Given the description of an element on the screen output the (x, y) to click on. 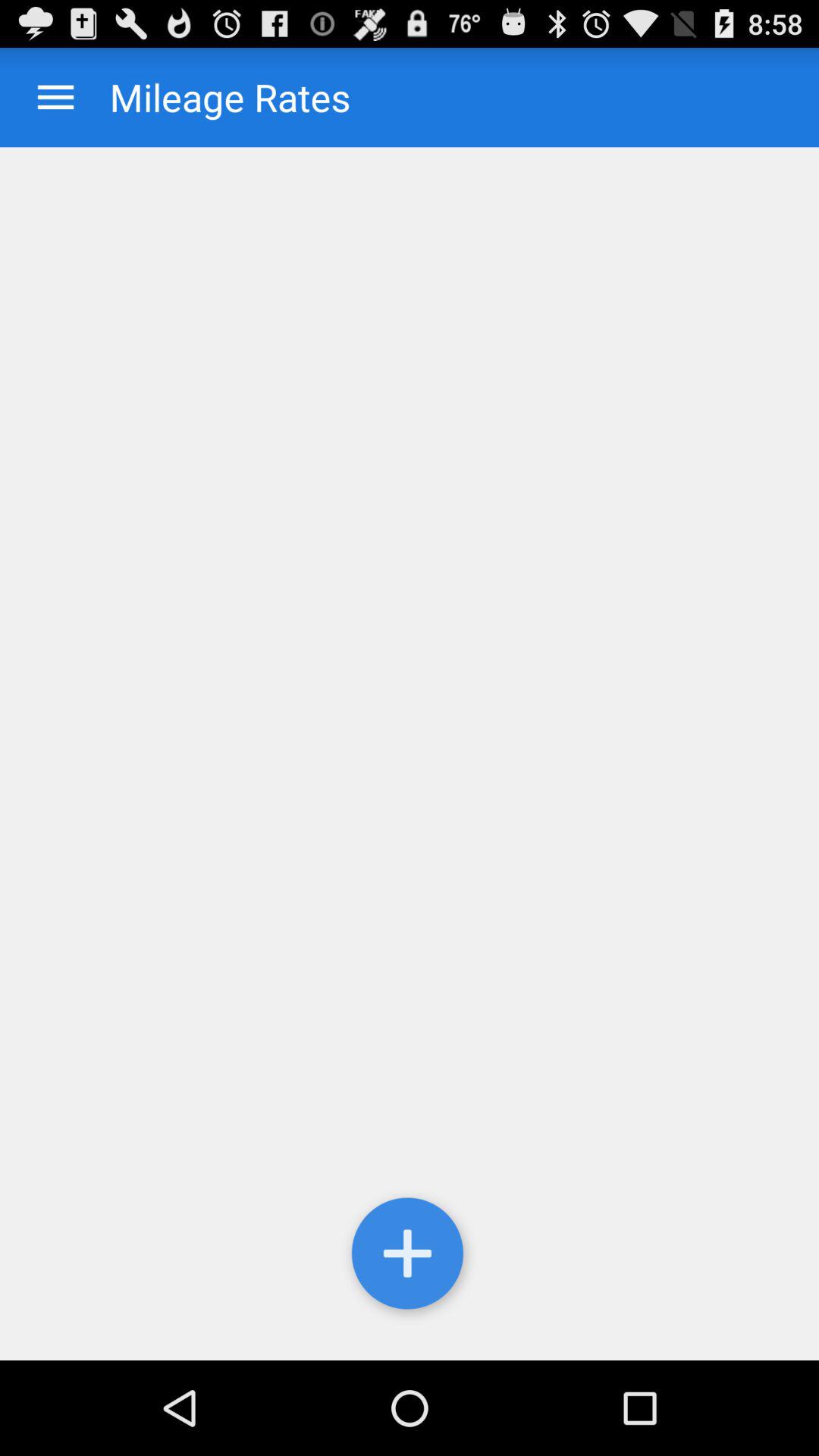
add mileage entry (409, 753)
